Given the description of an element on the screen output the (x, y) to click on. 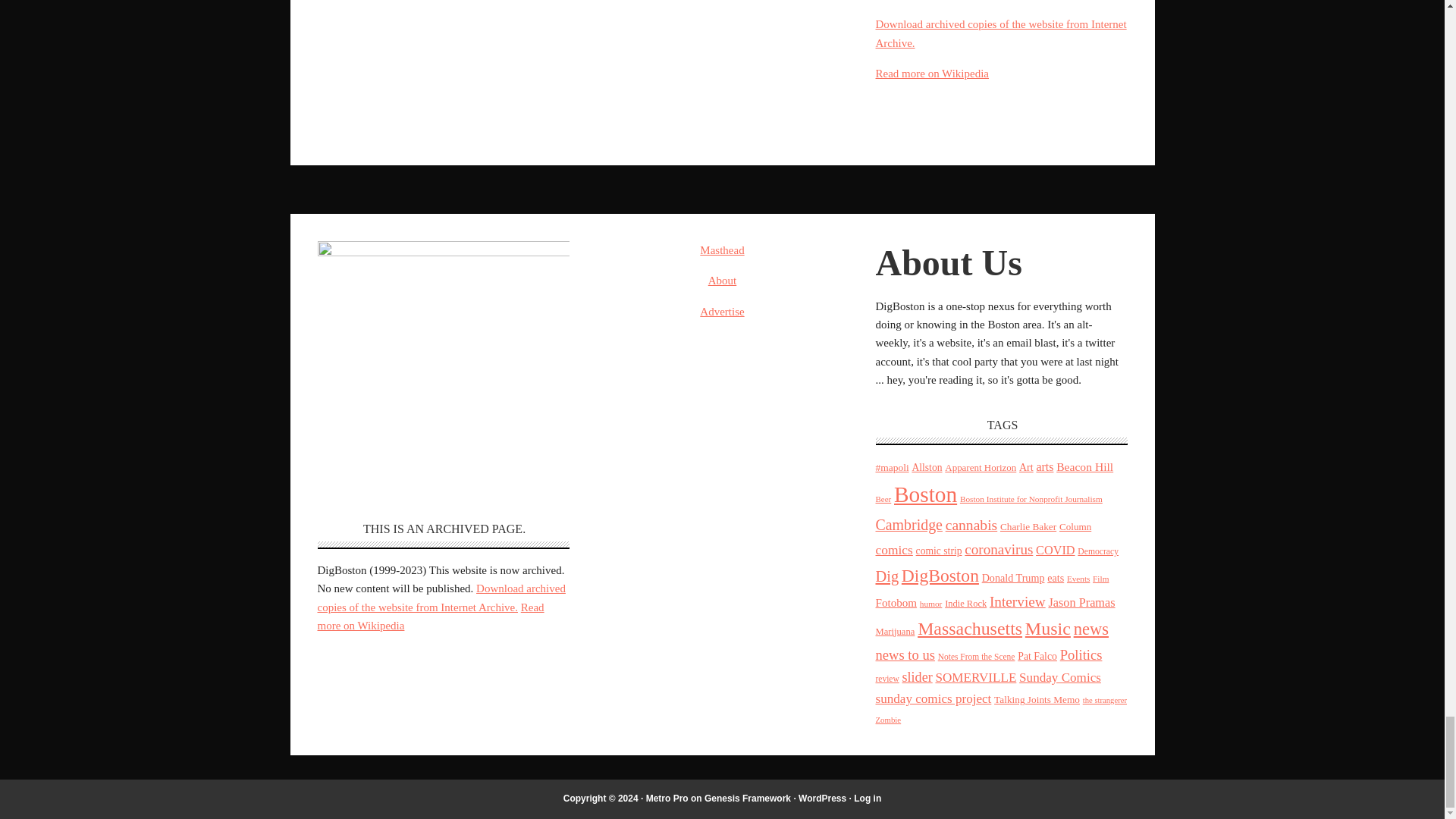
Masthead (722, 250)
About (721, 280)
Advertise (722, 311)
